Given the description of an element on the screen output the (x, y) to click on. 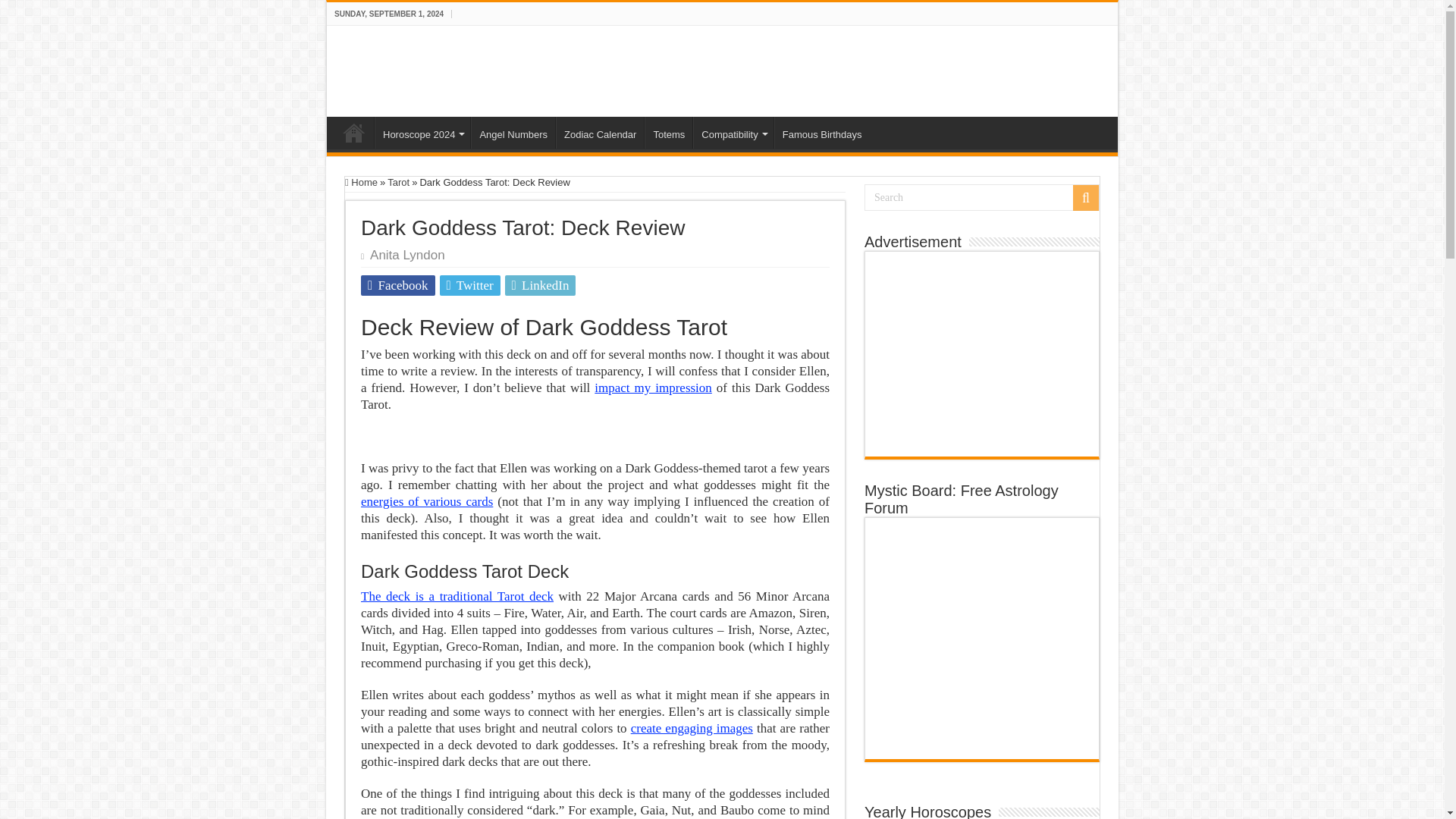
create engaging images (691, 728)
The deck is a traditional Tarot deck (457, 595)
What Are Animal Totems (669, 132)
Angel Numbers (512, 132)
Tarot (398, 182)
Sun Signs (405, 67)
Famous Birthdays (821, 132)
Twitter (469, 285)
Facebook (398, 285)
LinkedIn (540, 285)
